Given the description of an element on the screen output the (x, y) to click on. 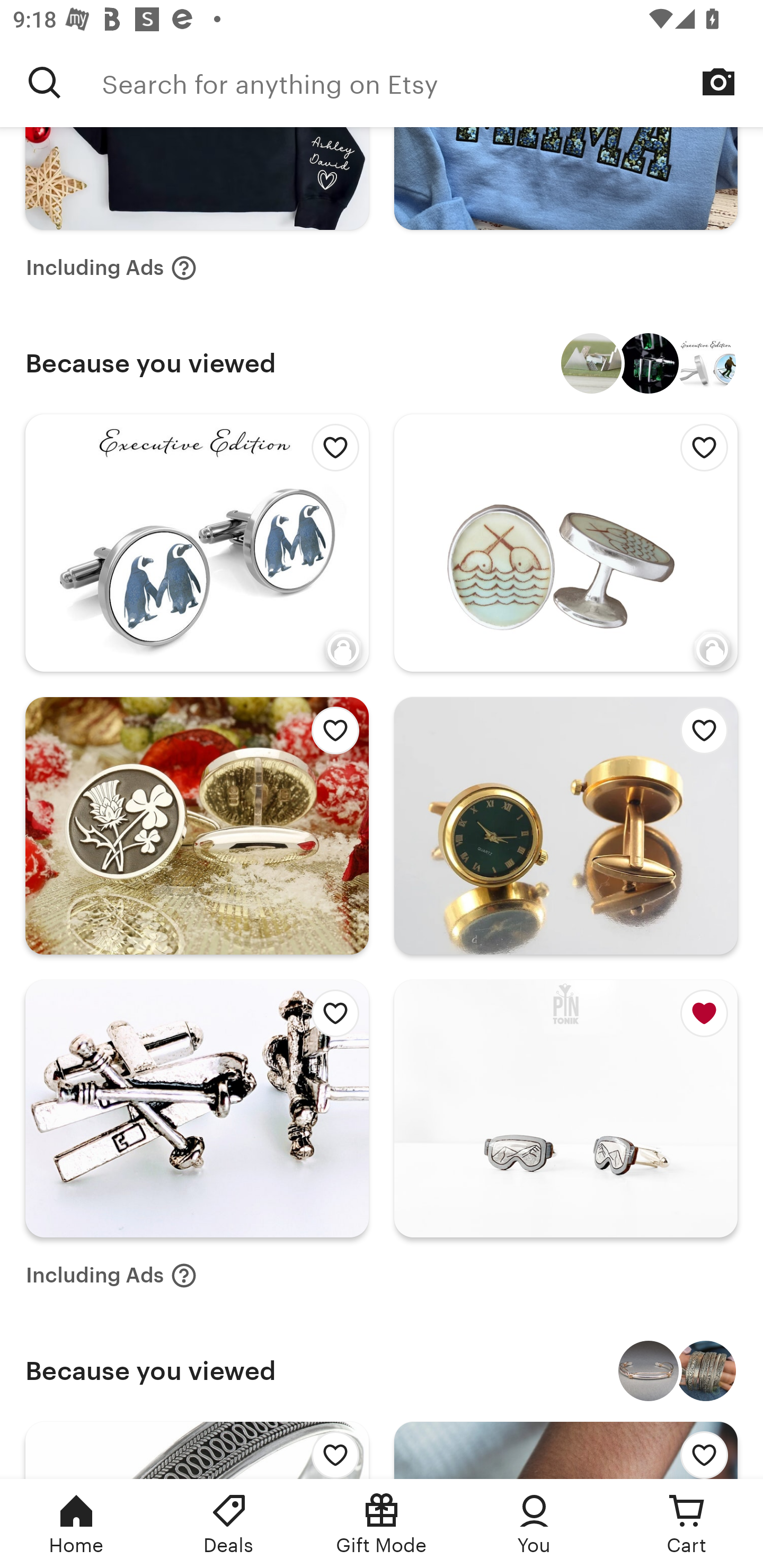
Search for anything on Etsy (44, 82)
Search by image (718, 81)
Search for anything on Etsy (432, 82)
Including Ads (111, 267)
Ski Cuff Links Add Ski Cuff Links to favorites (196, 1108)
Add Ski Cuff Links to favorites (330, 1018)
Including Ads (111, 1275)
Deals (228, 1523)
Gift Mode (381, 1523)
You (533, 1523)
Cart (686, 1523)
